Given the description of an element on the screen output the (x, y) to click on. 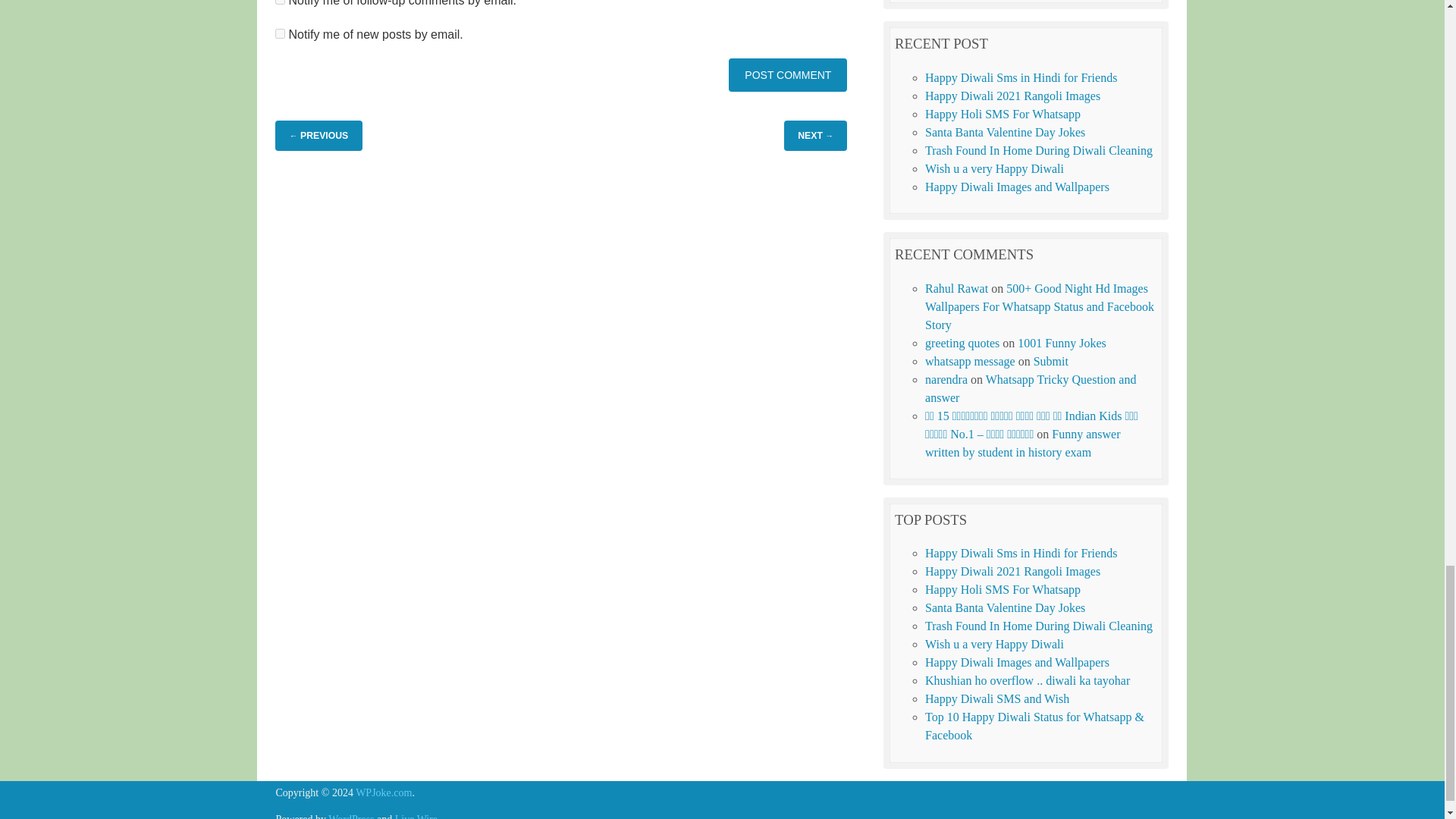
subscribe (280, 2)
Post Comment (788, 75)
Post Comment (788, 75)
subscribe (280, 33)
